Given the description of an element on the screen output the (x, y) to click on. 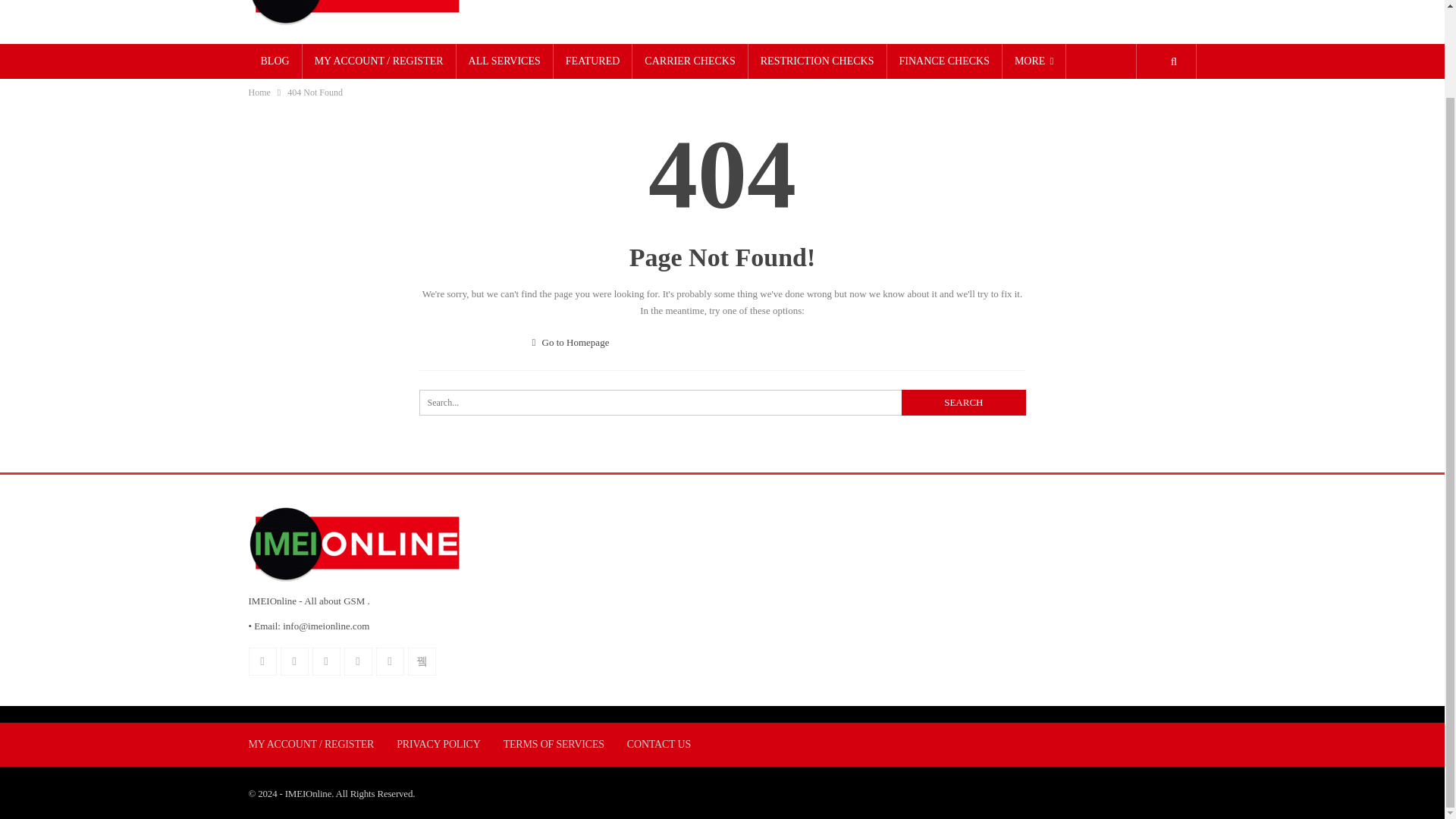
RESTRICTION CHECKS (817, 61)
Search for: (722, 402)
CONTACT US (658, 744)
Go to Homepage (571, 342)
Home (259, 92)
FINANCE CHECKS (943, 61)
TERMS OF SERVICES (553, 744)
Search (963, 402)
CARRIER CHECKS (688, 61)
BLOG (274, 61)
